Given the description of an element on the screen output the (x, y) to click on. 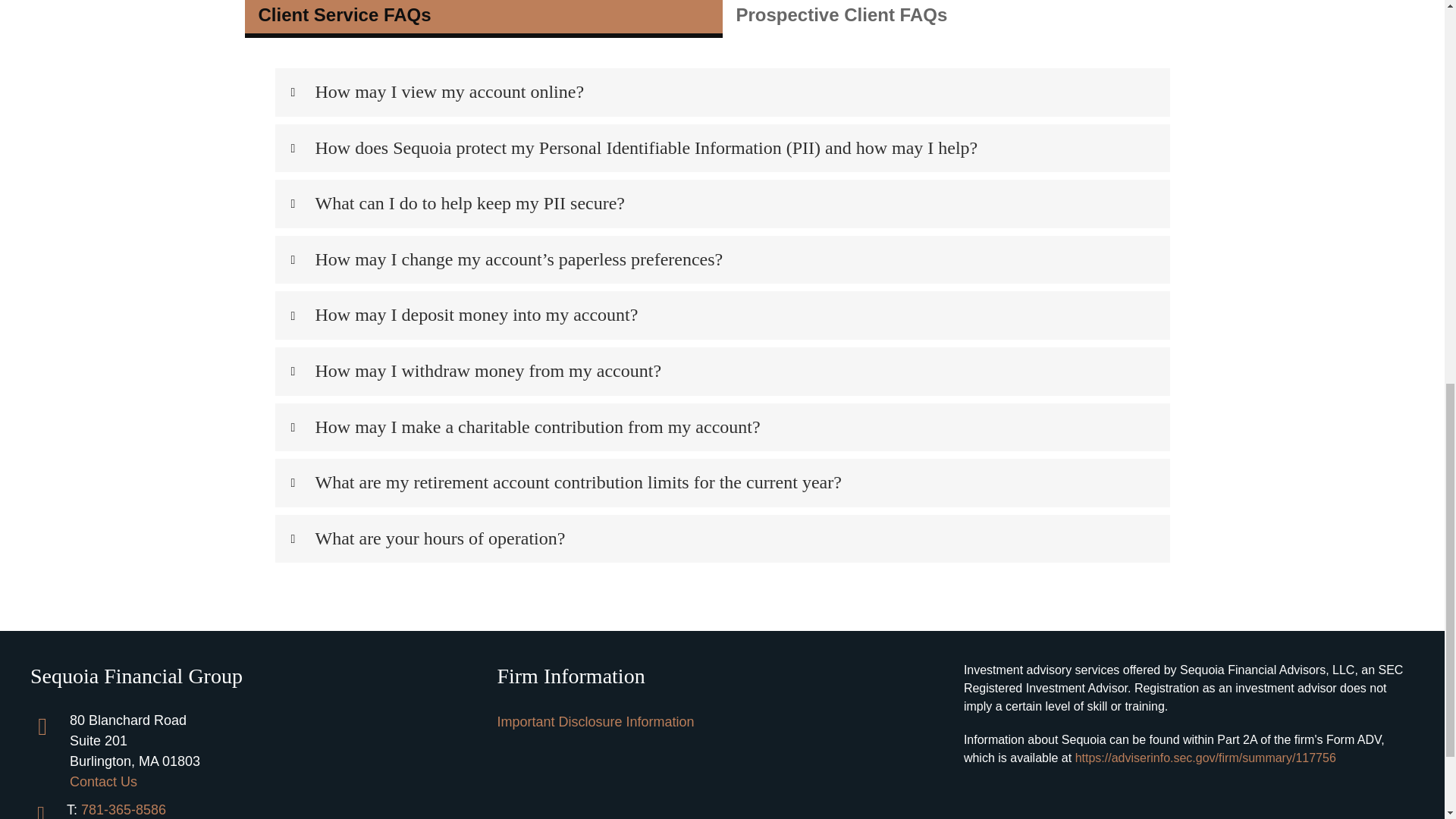
Contact Us (102, 780)
Important Disclosure Information (595, 721)
781-365-8586 (123, 809)
